Given the description of an element on the screen output the (x, y) to click on. 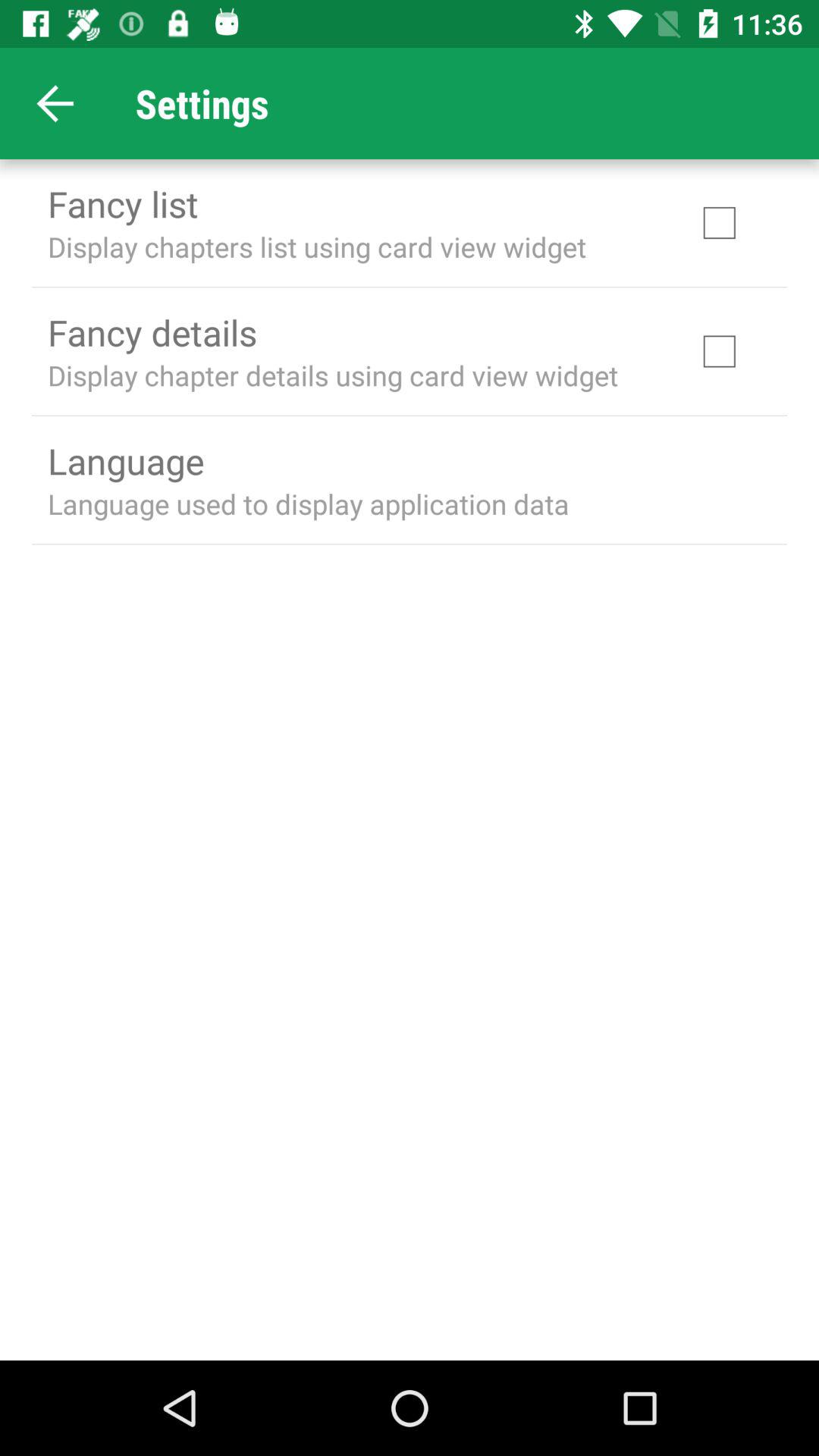
select the icon below the display chapters list icon (152, 332)
